Given the description of an element on the screen output the (x, y) to click on. 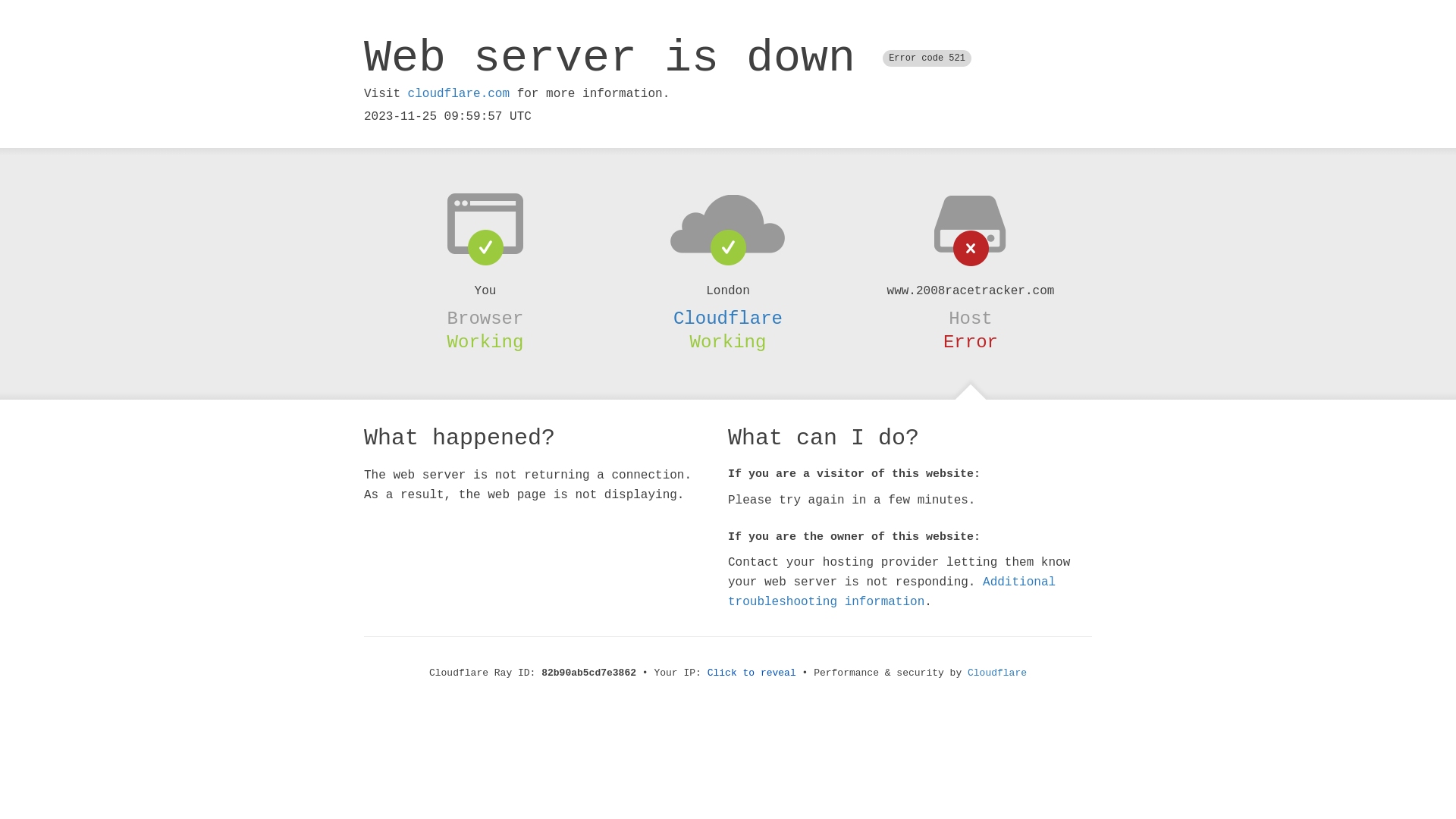
Cloudflare Element type: text (727, 318)
Cloudflare Element type: text (996, 672)
Click to reveal Element type: text (751, 672)
cloudflare.com Element type: text (458, 93)
Additional troubleshooting information Element type: text (891, 591)
